Given the description of an element on the screen output the (x, y) to click on. 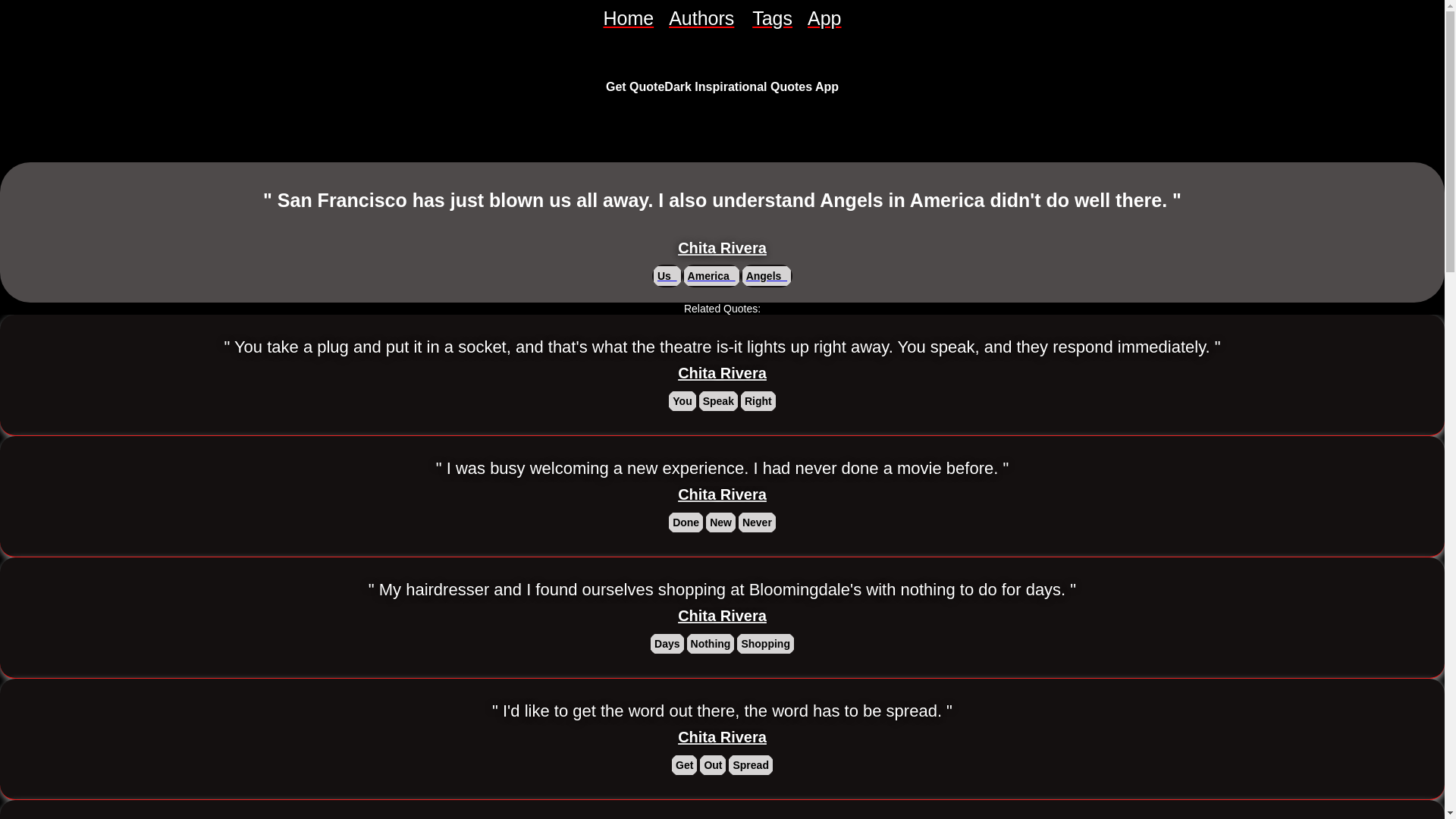
Home (627, 18)
App (824, 18)
Chita Rivera (722, 494)
Angels   (766, 275)
Chita Rivera (722, 373)
Get (683, 764)
Right (758, 400)
Nothing (710, 643)
Us   (667, 275)
Chita Rivera (722, 248)
Authors  (702, 18)
New (720, 522)
Days (666, 643)
Shopping (764, 643)
